Given the description of an element on the screen output the (x, y) to click on. 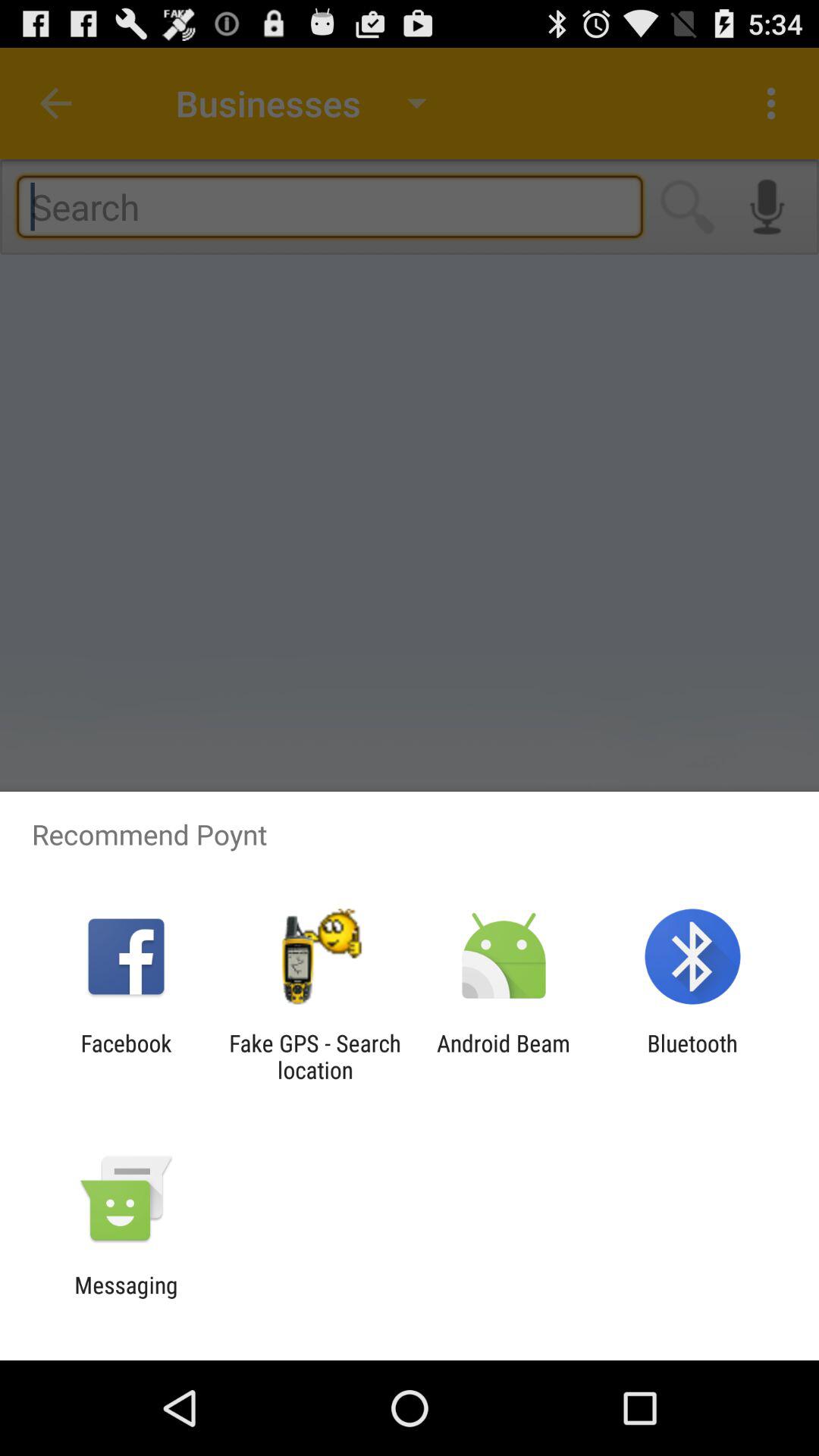
turn off the item at the bottom right corner (692, 1056)
